Given the description of an element on the screen output the (x, y) to click on. 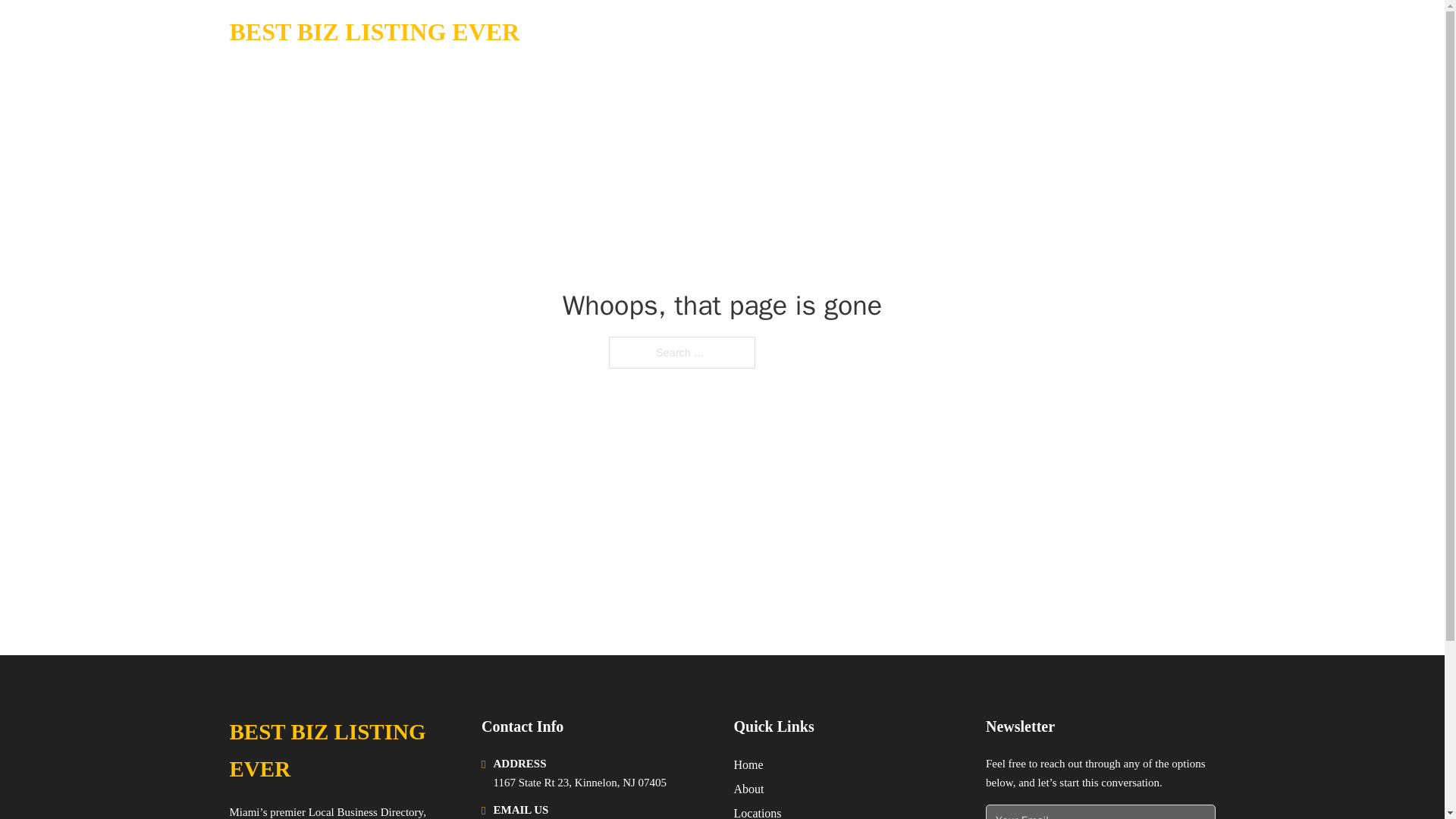
Locations (757, 811)
Home (747, 764)
About (748, 788)
BEST BIZ LISTING EVER (373, 31)
BEST BIZ LISTING EVER (343, 750)
LOCATIONS (1098, 31)
HOME (1025, 31)
